Given the description of an element on the screen output the (x, y) to click on. 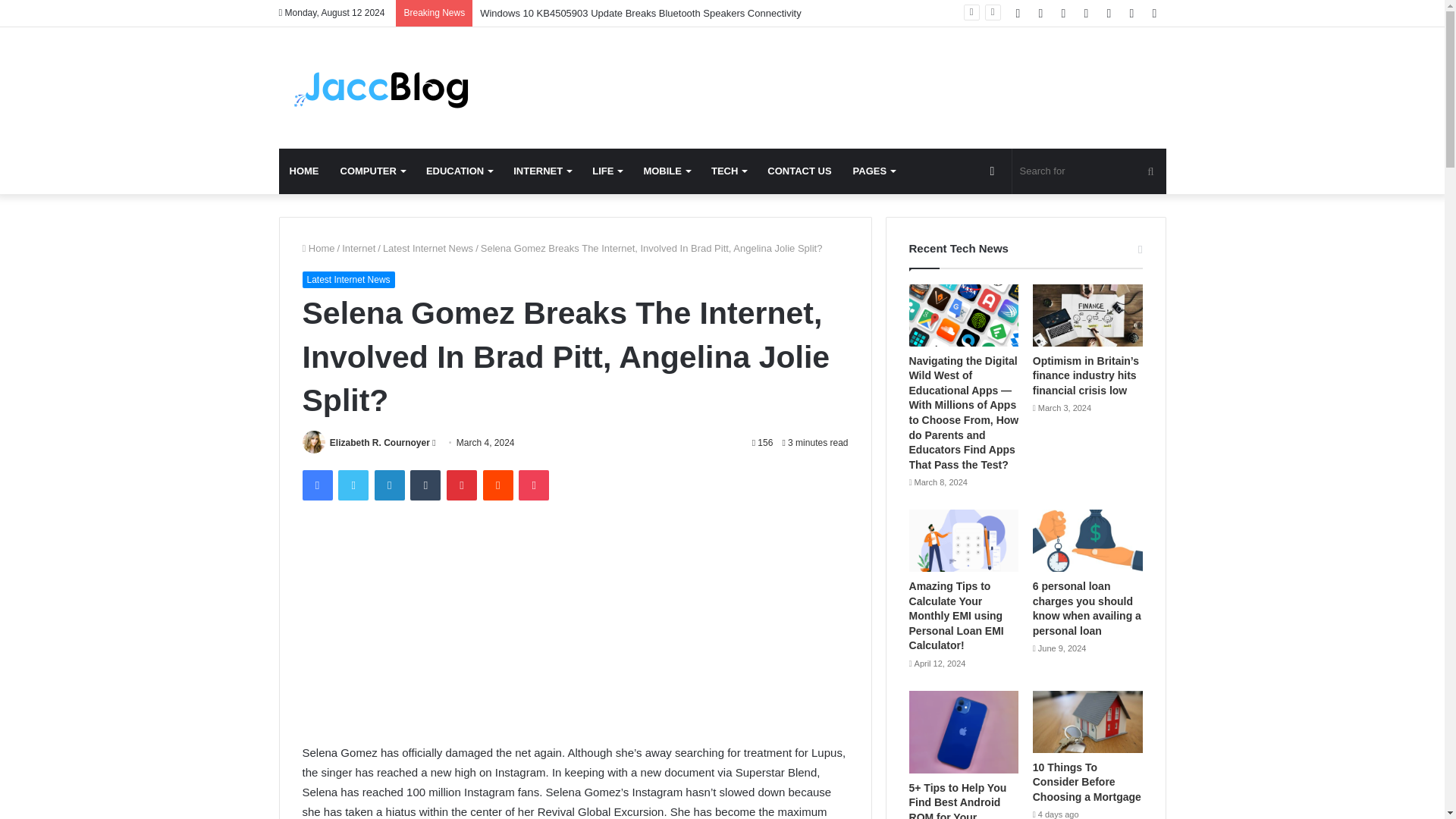
Facebook (316, 485)
Advertisement (574, 629)
Tumblr (425, 485)
EDUCATION (458, 171)
LinkedIn (389, 485)
Pinterest (461, 485)
COMPUTER (371, 171)
Elizabeth R. Cournoyer (379, 442)
Twitter (352, 485)
MOBILE (665, 171)
